Given the description of an element on the screen output the (x, y) to click on. 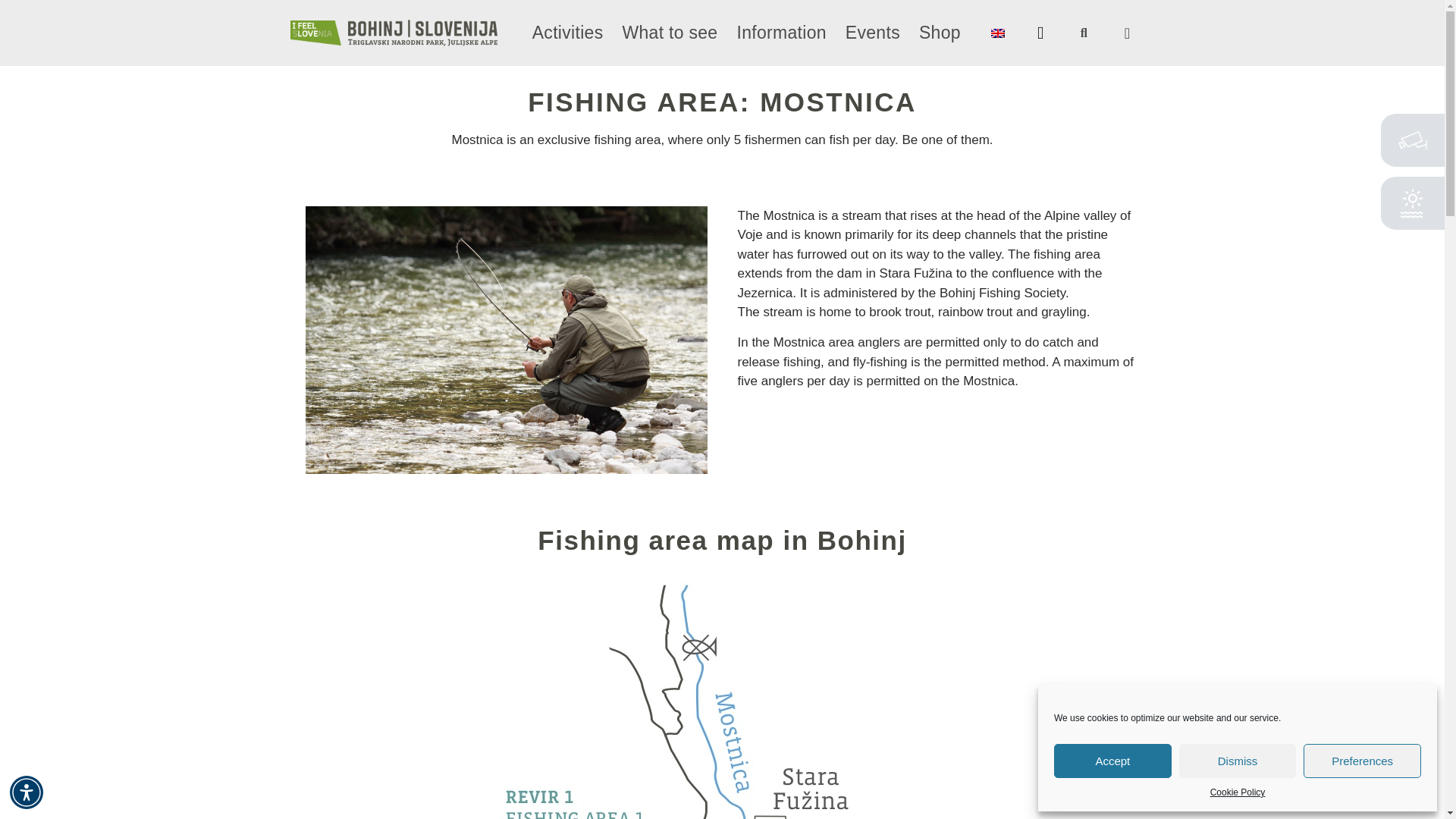
Cookie Policy (1237, 792)
Accept (1113, 760)
Activities (568, 32)
Accessibility Menu (26, 792)
Preferences (1362, 760)
Events (872, 32)
What to see (669, 32)
Dismiss (1238, 760)
Shop (939, 32)
Information (780, 32)
